Given the description of an element on the screen output the (x, y) to click on. 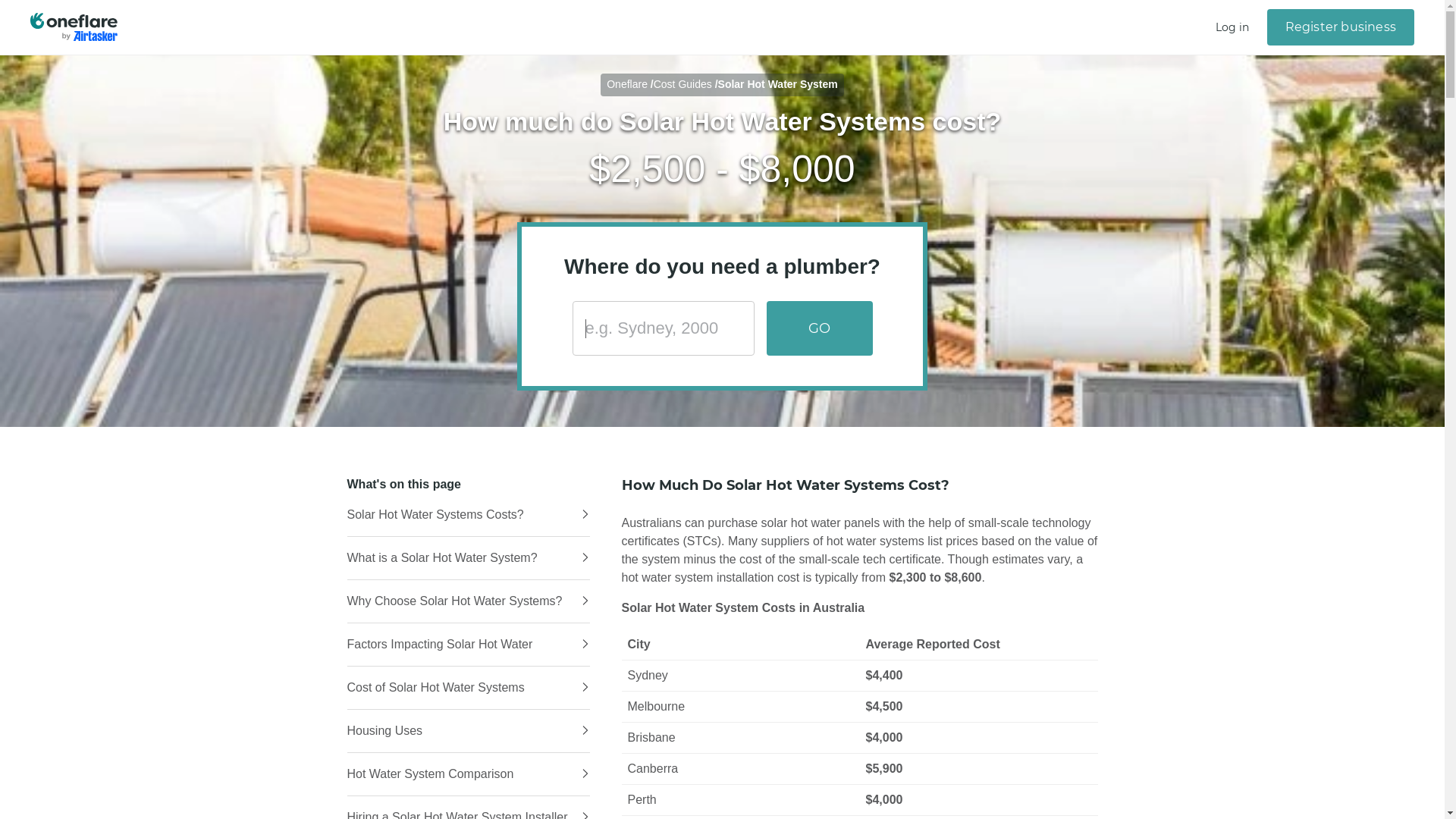
Why Choose Solar Hot Water Systems?
Right Chevron Element type: text (468, 601)
Factors Impacting Solar Hot Water
Right Chevron Element type: text (468, 644)
GO Element type: text (818, 328)
Hot Water System Comparison
Right Chevron Element type: text (468, 774)
Cost Guides Element type: text (682, 84)
Cost of Solar Hot Water Systems
Right Chevron Element type: text (468, 687)
Register business Element type: text (1340, 27)
Solar Hot Water Systems Costs?
Right Chevron Element type: text (468, 514)
Oneflare Element type: text (626, 84)
Log in Element type: text (1231, 27)
Housing Uses
Right Chevron Element type: text (468, 730)
What is a Solar Hot Water System?
Right Chevron Element type: text (468, 557)
